Given the description of an element on the screen output the (x, y) to click on. 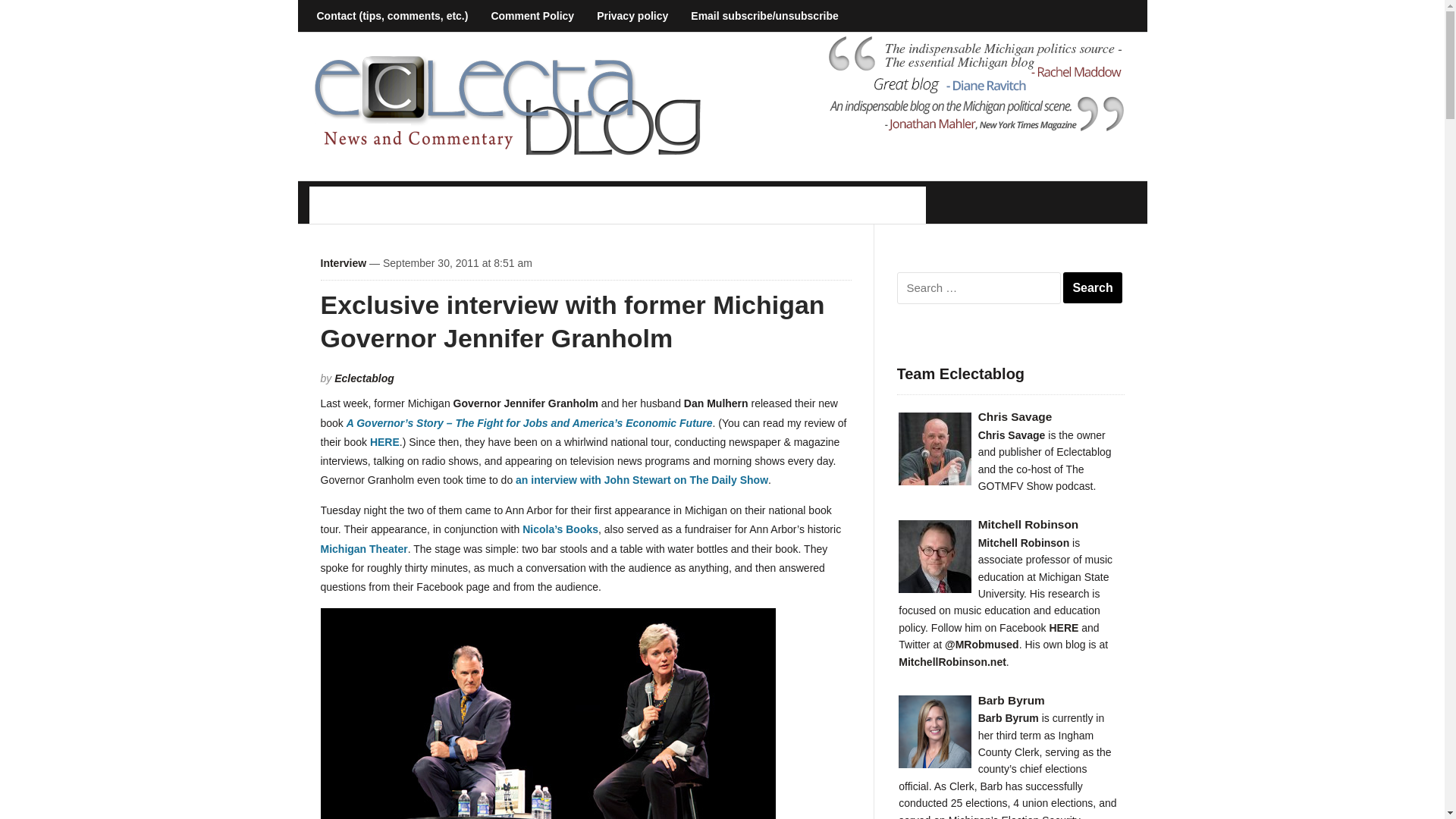
Search for: (977, 287)
Search (1091, 287)
an interview with John Stewart on The Daily Show (641, 480)
Mitchell Robinson (1009, 524)
HERE (383, 441)
Flint Water Crisis (644, 204)
HERE (1063, 627)
Chris Savage (1009, 416)
Chris Savage (1009, 416)
Betsy DeVos (361, 204)
Eclectablog (364, 378)
Comment Policy (532, 15)
Search (1091, 287)
Search (1091, 287)
